Given the description of an element on the screen output the (x, y) to click on. 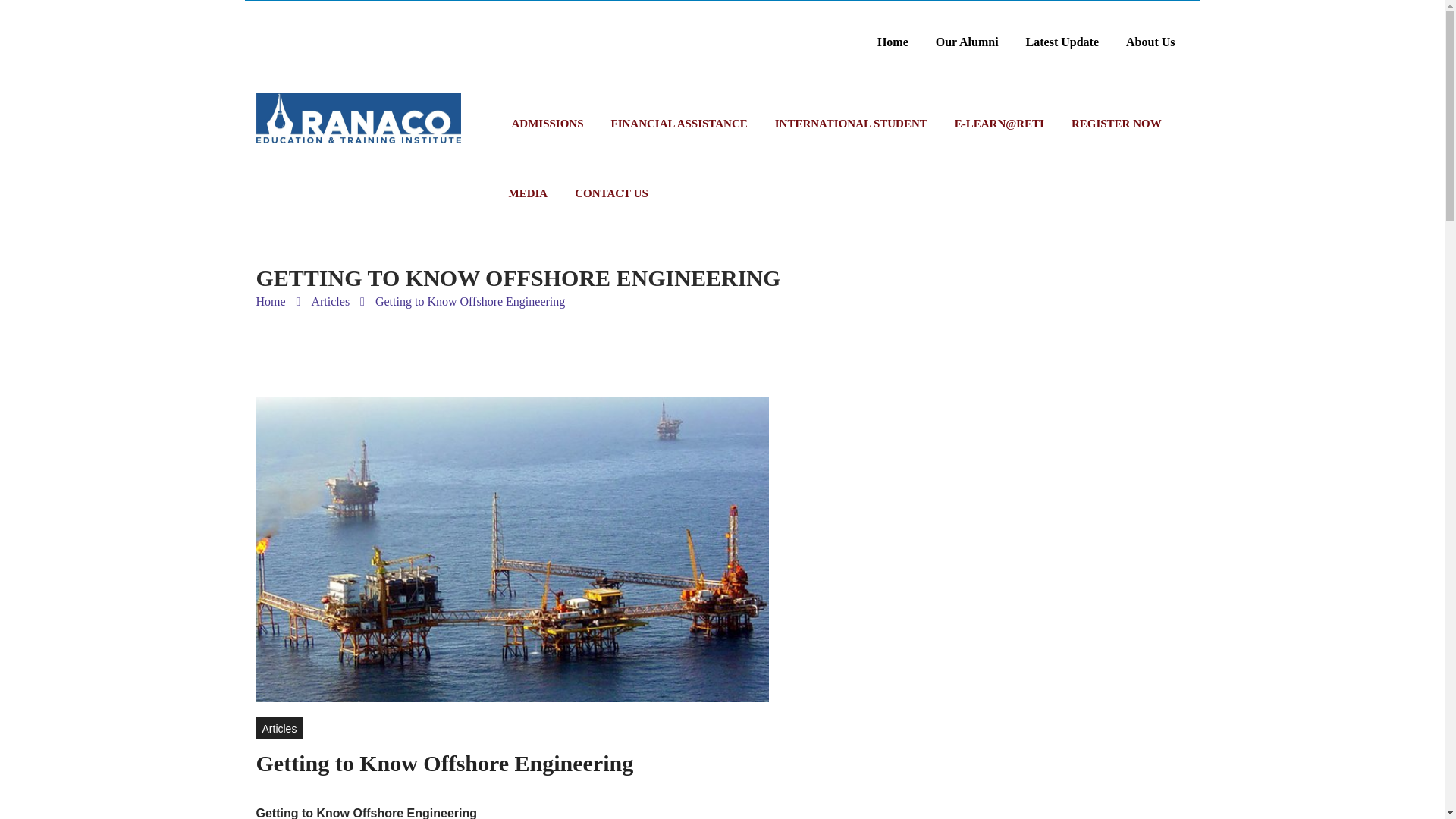
FINANCIAL ASSISTANCE (679, 123)
Latest Update (1061, 41)
REGISTER NOW (1116, 123)
INTERNATIONAL STUDENT (850, 123)
Our Alumni (966, 41)
MEDIA (527, 193)
About Us (1149, 41)
Permalink to Getting to Know Offshore Engineering (444, 763)
ADMISSIONS (547, 123)
